Given the description of an element on the screen output the (x, y) to click on. 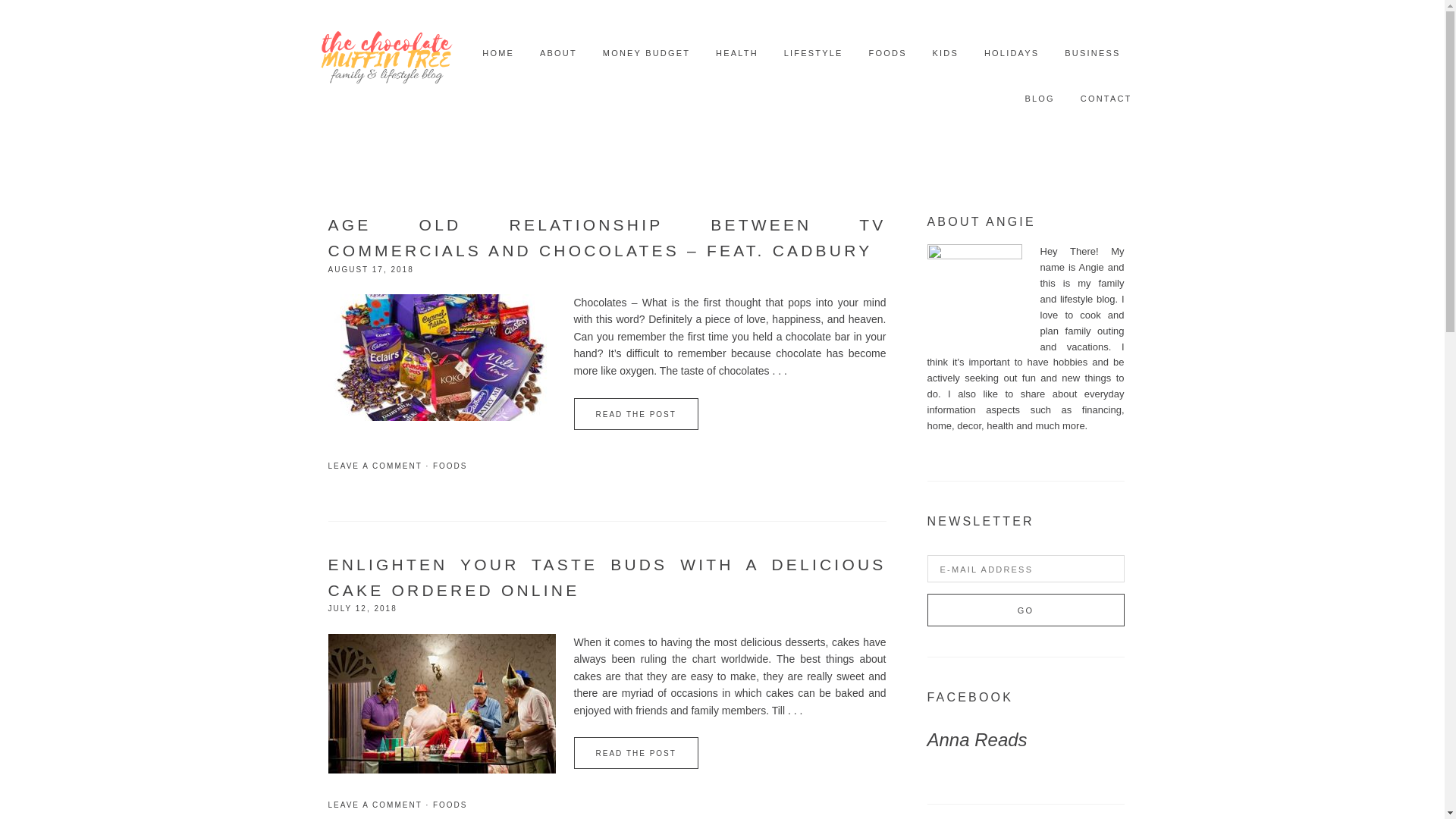
LIFESTYLE (813, 53)
HOME (497, 53)
HEALTH (737, 53)
ABOUT (558, 53)
LEAVE A COMMENT (374, 465)
CONTACT (1106, 98)
READ THE POST (635, 753)
READ THE POST (635, 413)
FOODS (449, 465)
KIDS (945, 53)
FOODS (449, 804)
BLOG (1039, 98)
HOLIDAYS (1011, 53)
Go (1025, 609)
